Given the description of an element on the screen output the (x, y) to click on. 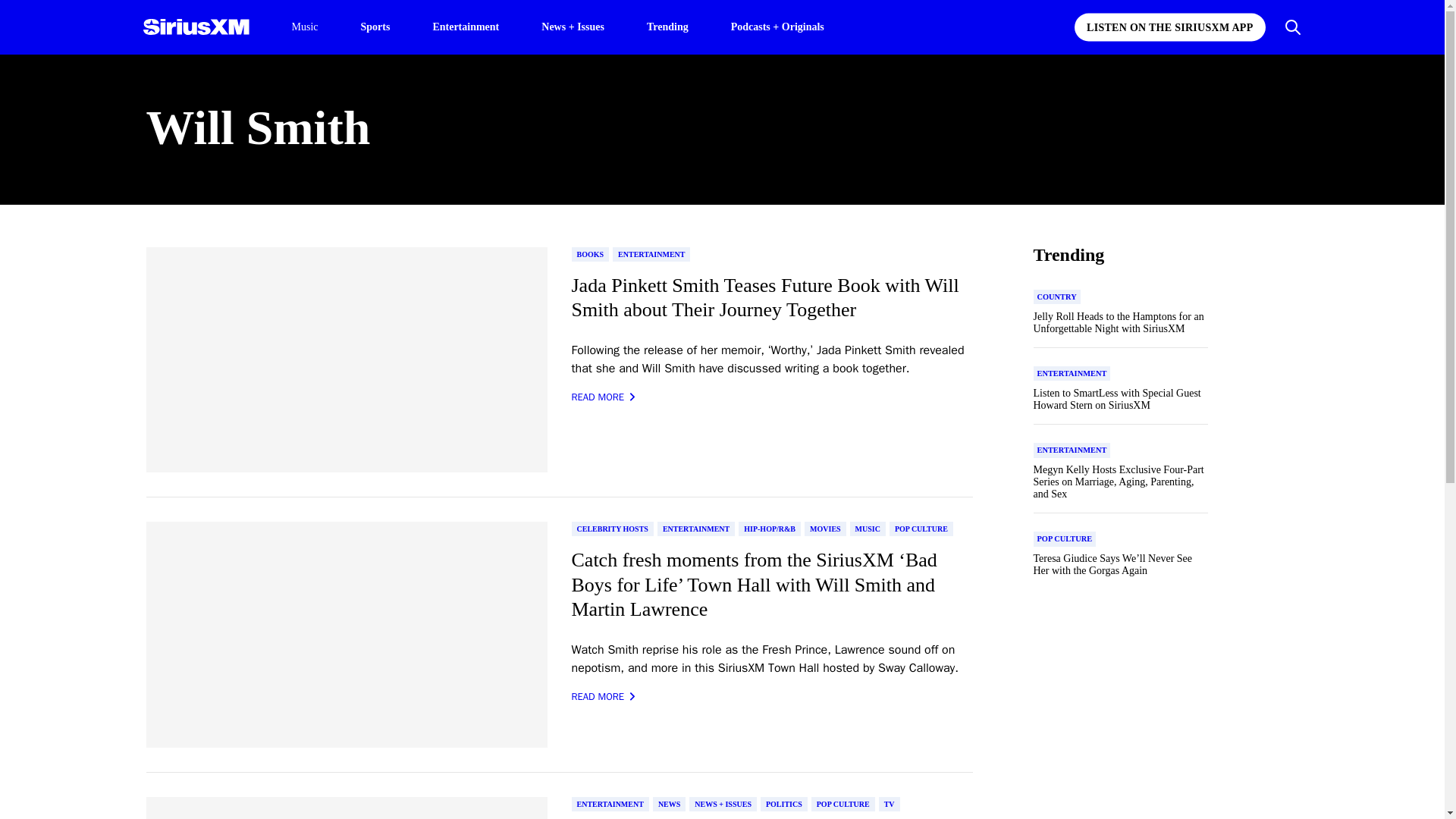
CELEBRITY HOSTS (612, 528)
Trending (667, 26)
Entertainment (465, 26)
Sports (375, 26)
ENTERTAINMENT (696, 528)
POP CULTURE (842, 803)
POLITICS (784, 803)
NEWS (668, 803)
ENTERTAINMENT (651, 254)
READ MORE (603, 696)
